Given the description of an element on the screen output the (x, y) to click on. 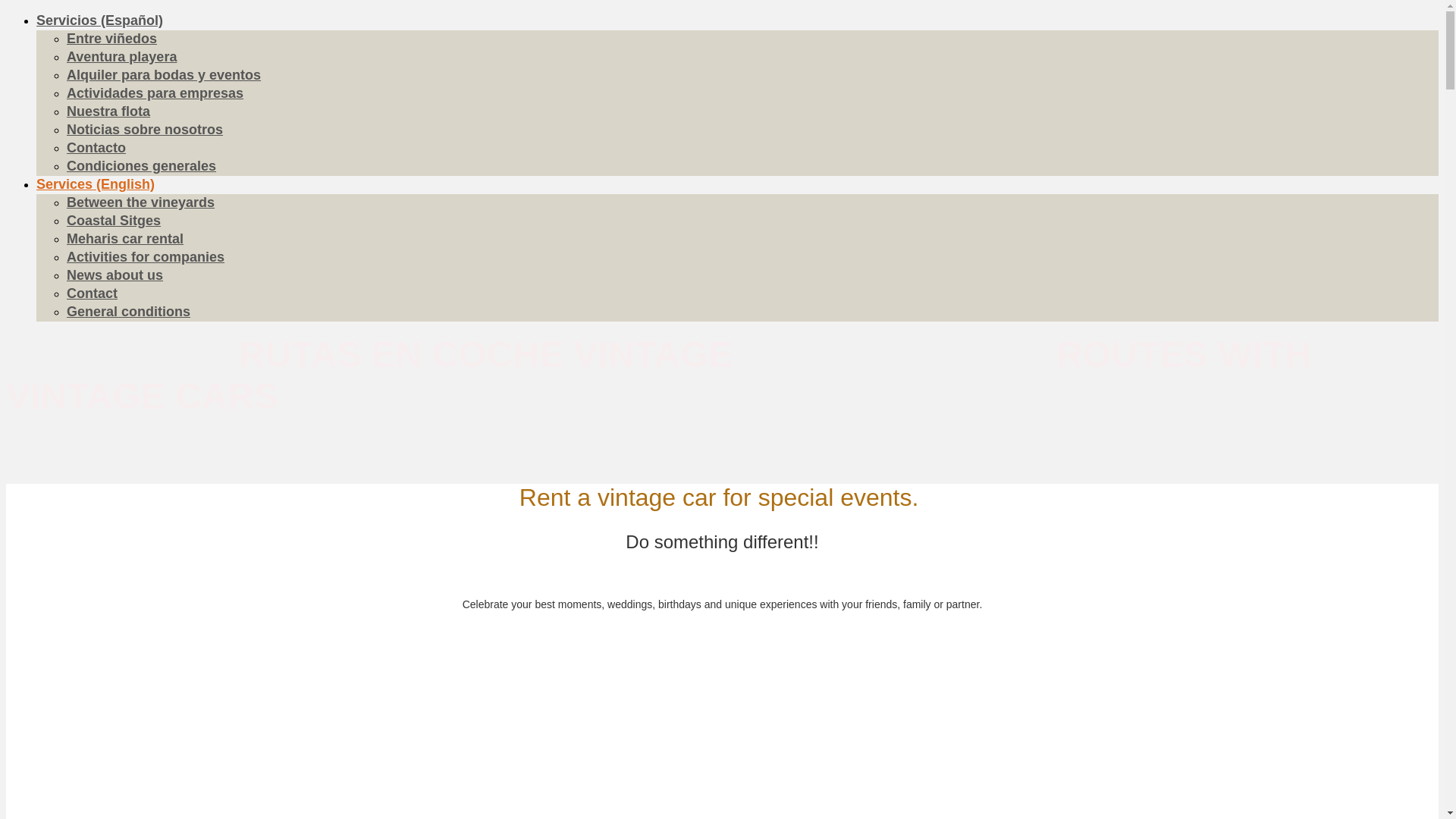
Services (English) Element type: text (95, 183)
News about us Element type: text (114, 274)
Contacto Element type: text (95, 147)
Activities for companies Element type: text (145, 256)
Coastal Sitges Element type: text (113, 220)
Aventura playera Element type: text (121, 56)
Between the vineyards Element type: text (140, 202)
General conditions Element type: text (128, 311)
Nuestra flota Element type: text (108, 111)
Actividades para empresas Element type: text (154, 92)
Alquiler para bodas y eventos Element type: text (163, 74)
Contact Element type: text (91, 293)
Meharis car rental Element type: text (124, 238)
Noticias sobre nosotros Element type: text (144, 129)
Condiciones generales Element type: text (141, 165)
